Given the description of an element on the screen output the (x, y) to click on. 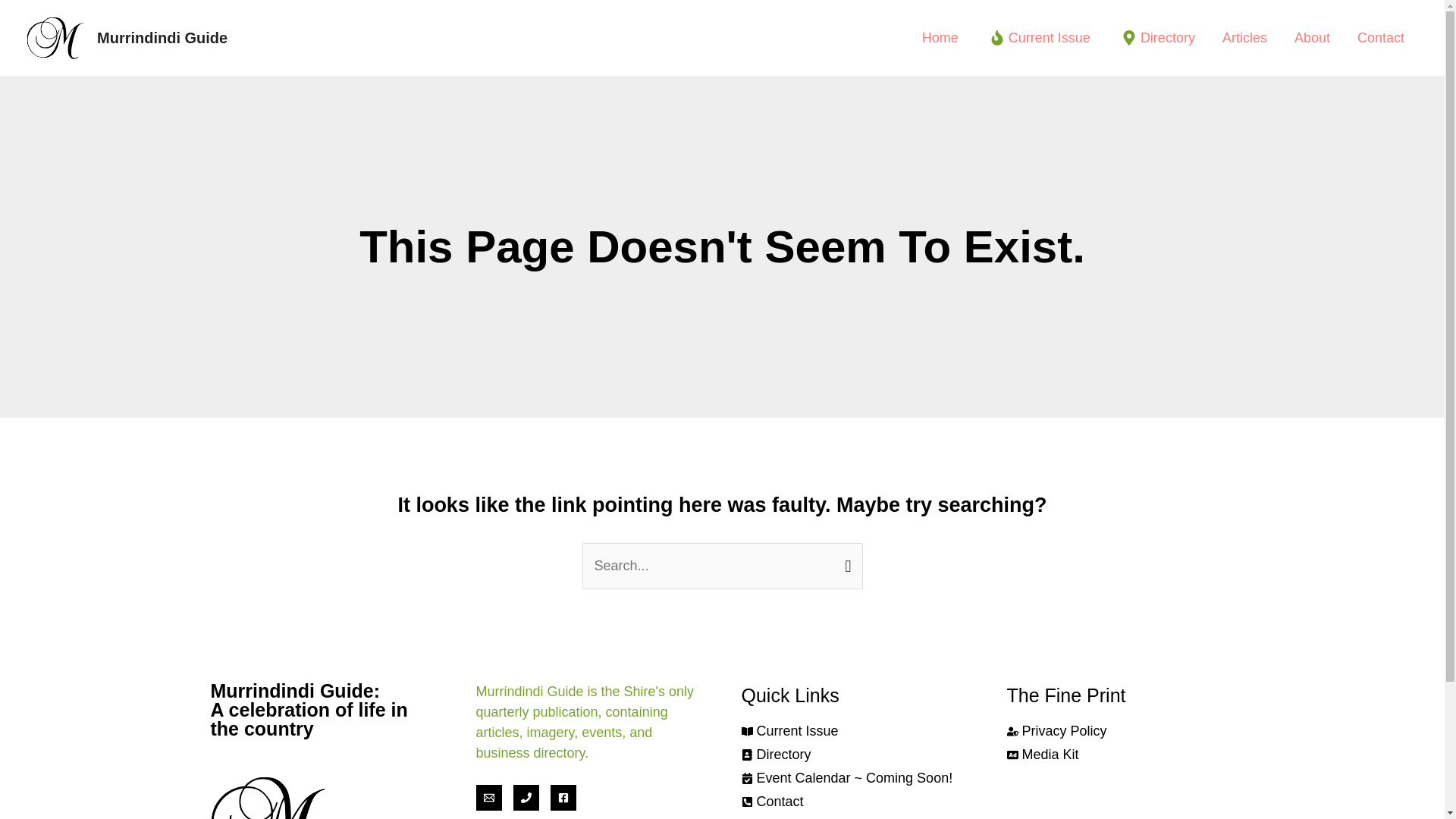
Search Element type: text (845, 556)
Home Element type: text (940, 37)
Directory Element type: text (776, 754)
Murrindindi Guide Element type: text (162, 37)
Media Kit Element type: text (1043, 754)
Articles Element type: text (1244, 37)
Privacy Policy Element type: text (1057, 731)
Contact Element type: text (1380, 37)
Directory Element type: text (1156, 37)
Event Calendar ~ Coming Soon! Element type: text (847, 778)
Current Issue Element type: text (789, 731)
Contact Element type: text (772, 801)
Current Issue Element type: text (1038, 37)
About Element type: text (1311, 37)
